Given the description of an element on the screen output the (x, y) to click on. 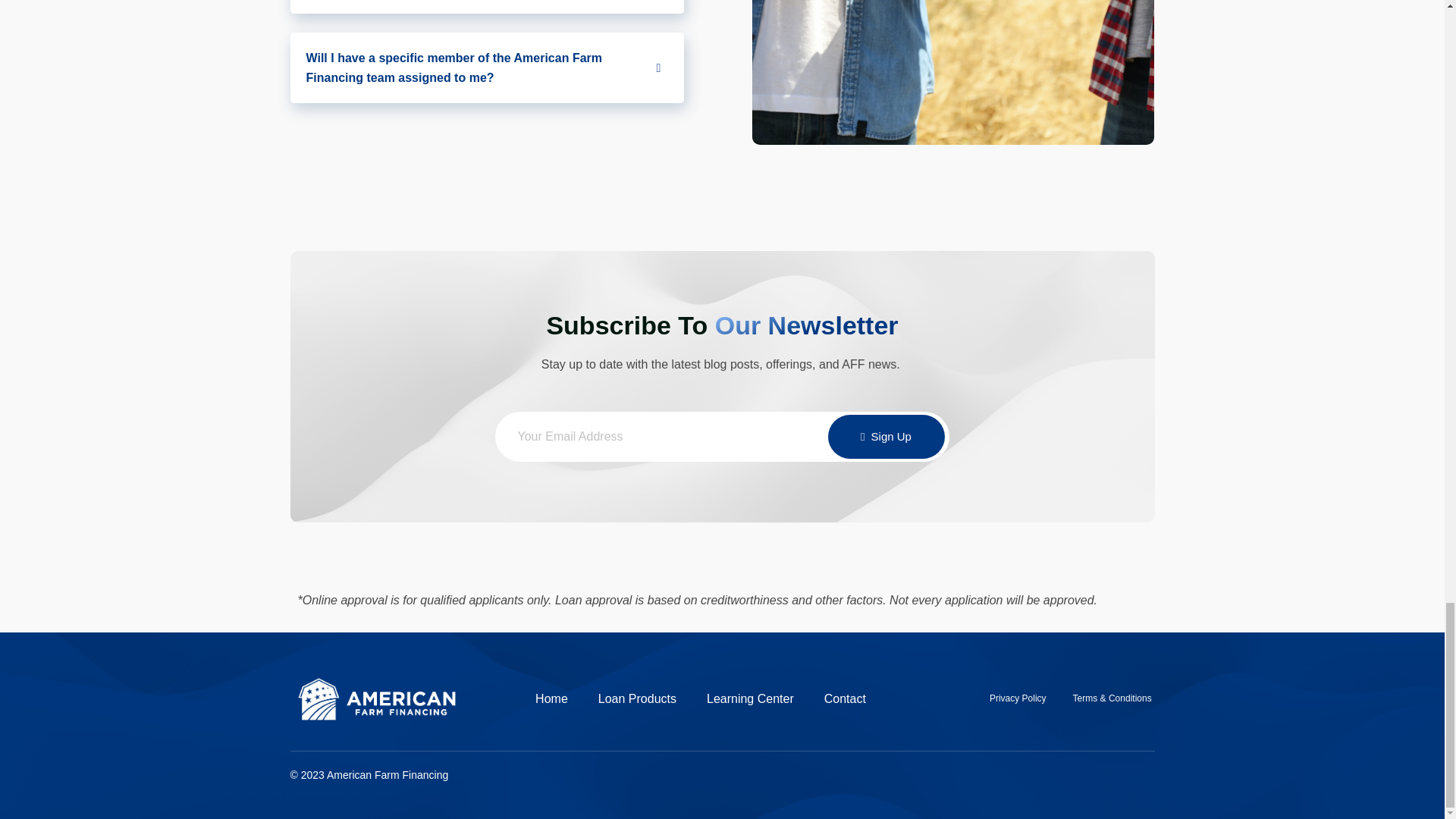
Contact (845, 699)
Sign Up (886, 436)
Learning Center (749, 699)
Home (551, 699)
Privacy Policy (1018, 698)
Loan Products (637, 699)
Is there a prepayment penalty? (486, 7)
